Given the description of an element on the screen output the (x, y) to click on. 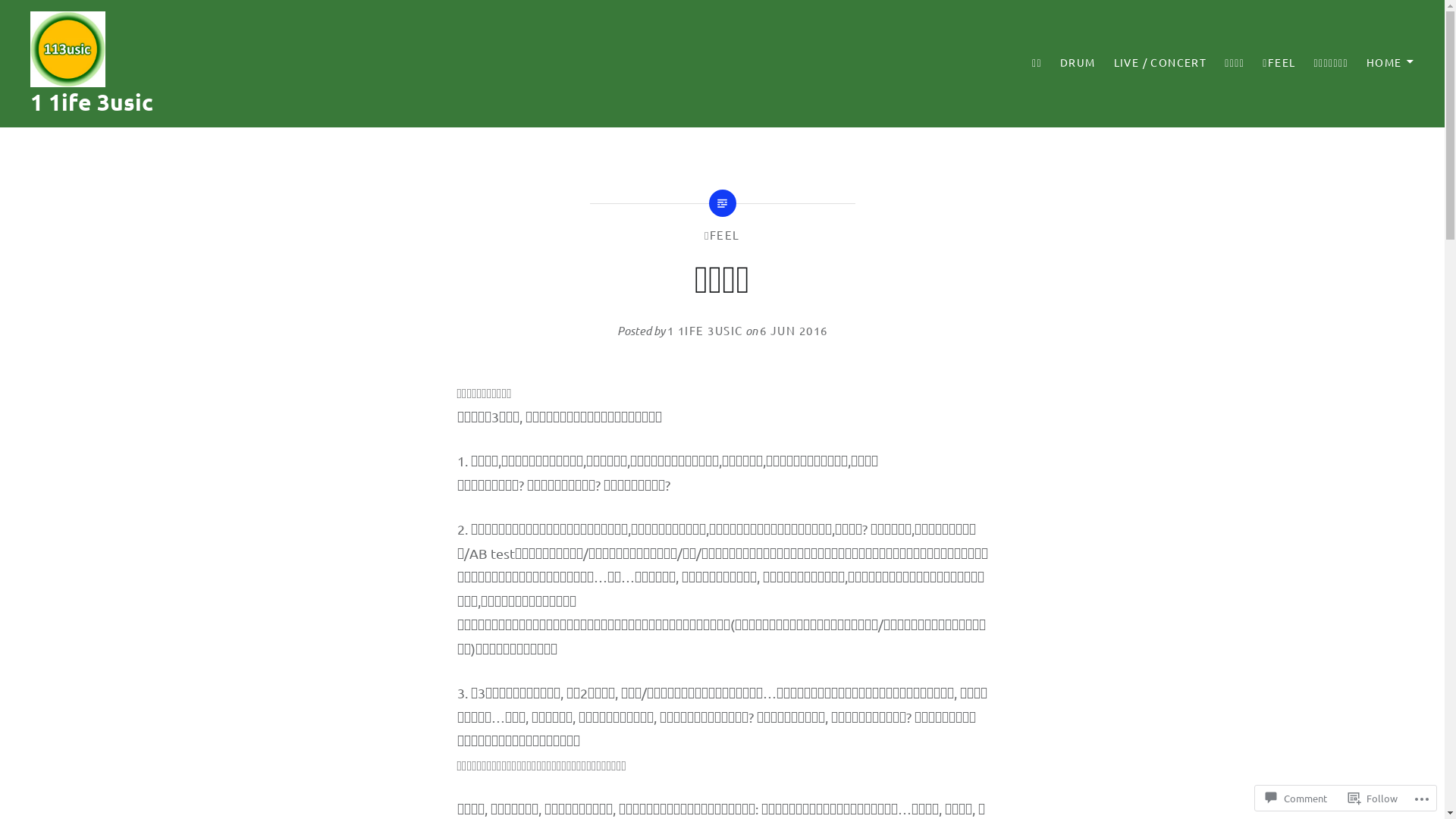
6 JUN 2016 Element type: text (793, 330)
DRUM Element type: text (1077, 62)
1 1IFE 3USIC Element type: text (705, 330)
1 1ife 3usic Element type: text (91, 101)
Comment Element type: text (1296, 797)
LIVE / CONCERT Element type: text (1160, 62)
HOME Element type: text (1390, 62)
Search Element type: text (190, 19)
Follow Element type: text (1372, 797)
